Given the description of an element on the screen output the (x, y) to click on. 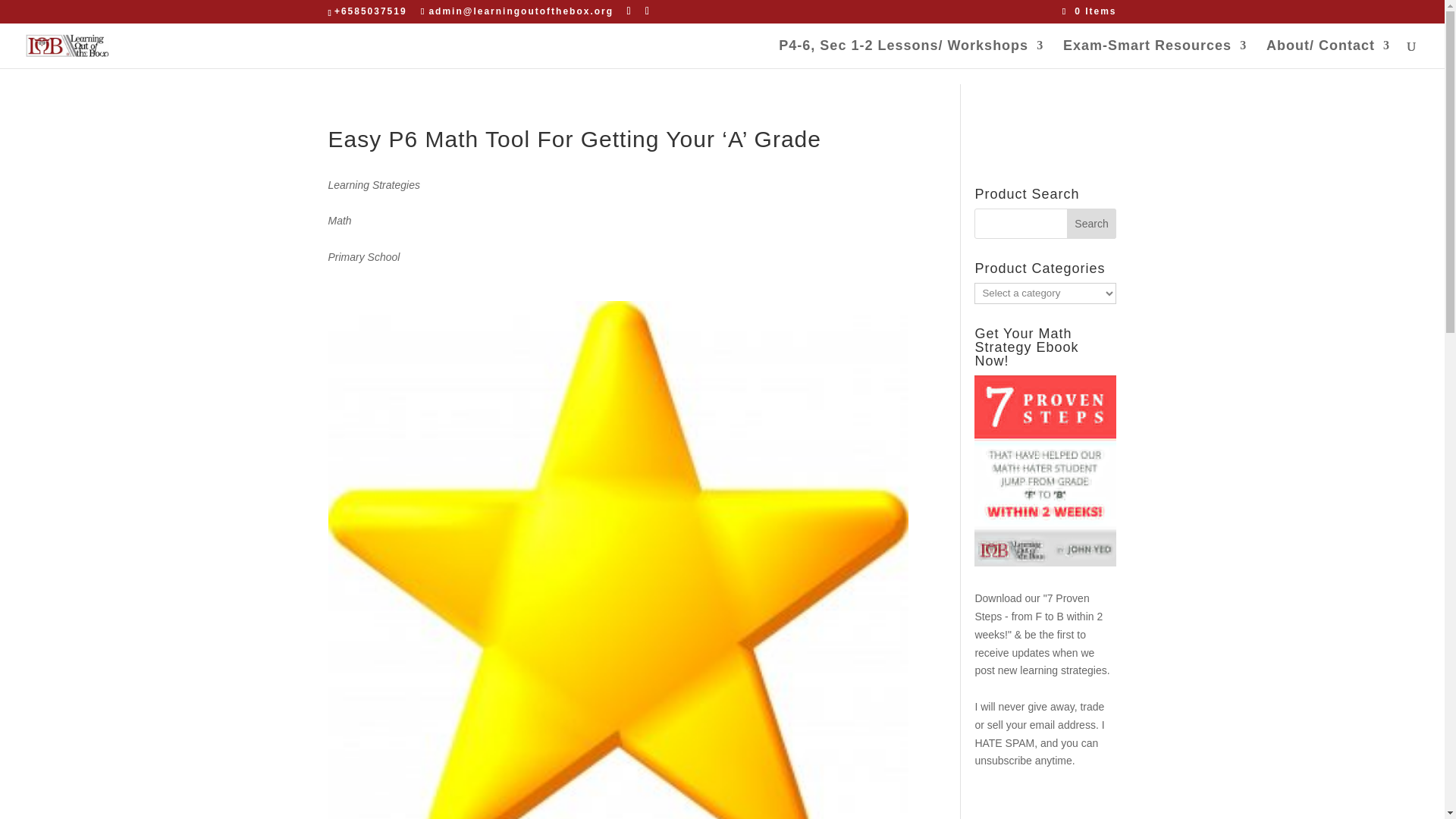
Search (1091, 223)
Primary School (617, 257)
0 Items (1089, 10)
Math (617, 221)
Search (1091, 223)
Learning Strategies (617, 185)
Exam-Smart Resources (1154, 53)
